Given the description of an element on the screen output the (x, y) to click on. 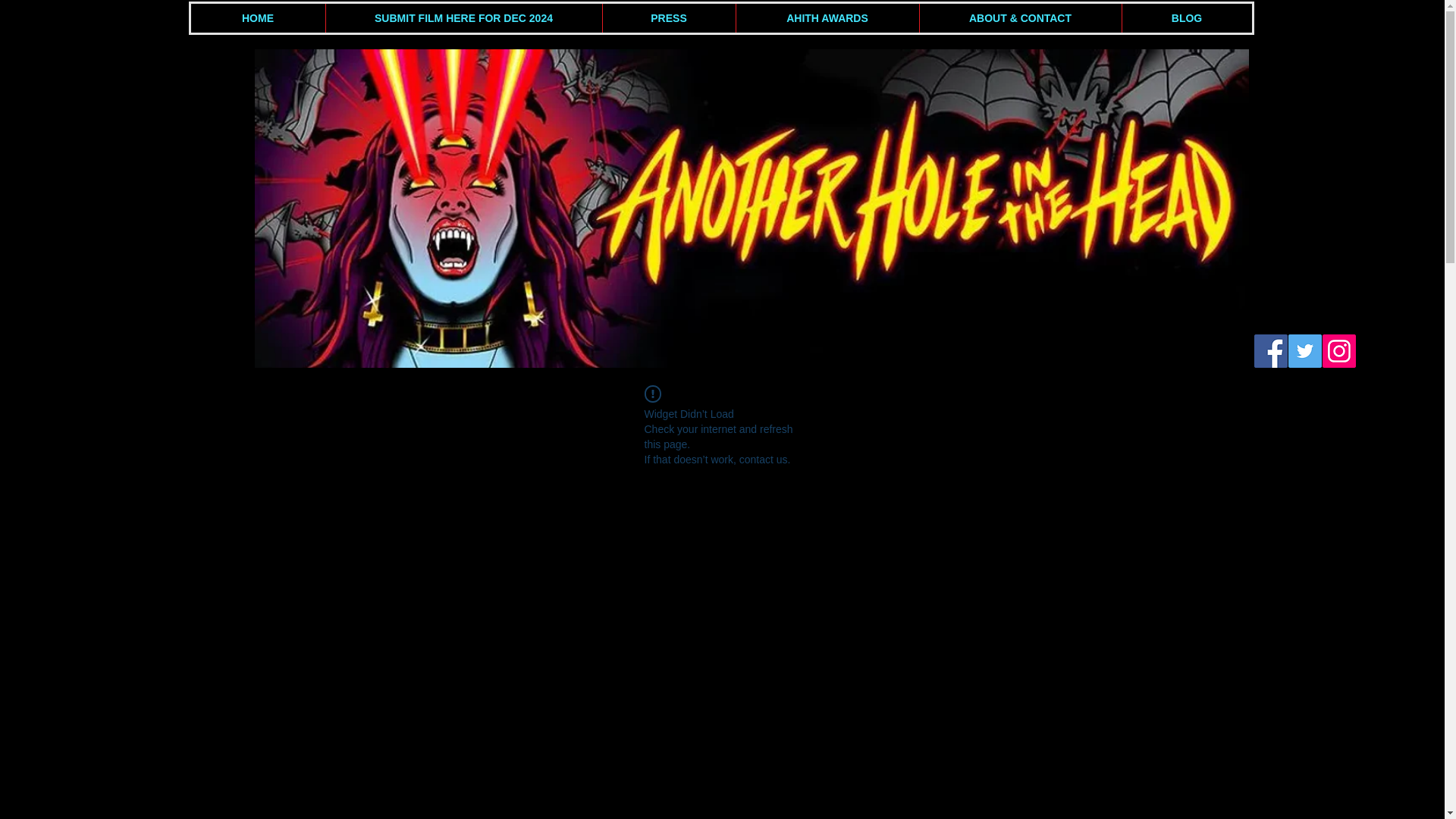
BLOG (1185, 18)
SUBMIT FILM HERE FOR DEC 2024 (462, 18)
HOME (257, 18)
! (653, 393)
AHITH AWARDS (826, 18)
PRESS (668, 18)
